Given the description of an element on the screen output the (x, y) to click on. 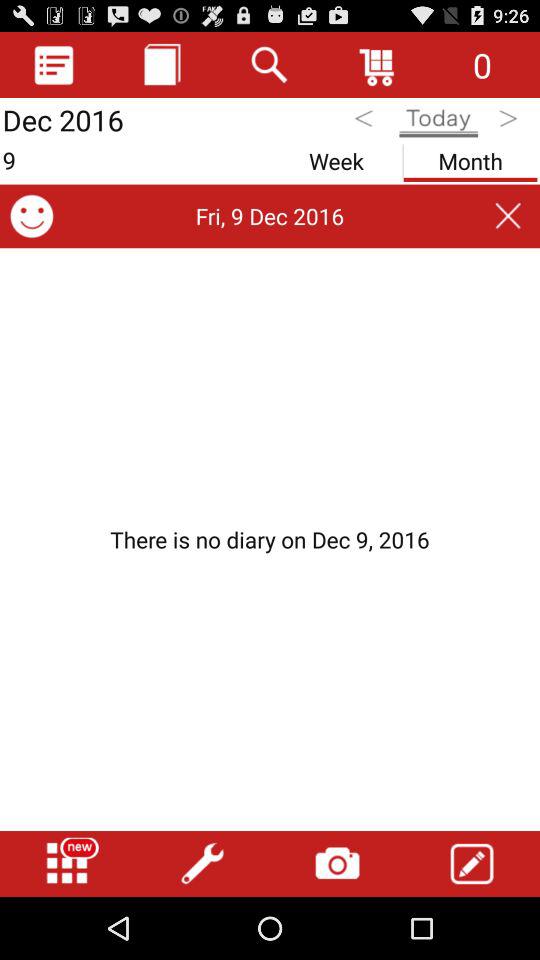
copy entry (161, 64)
